Given the description of an element on the screen output the (x, y) to click on. 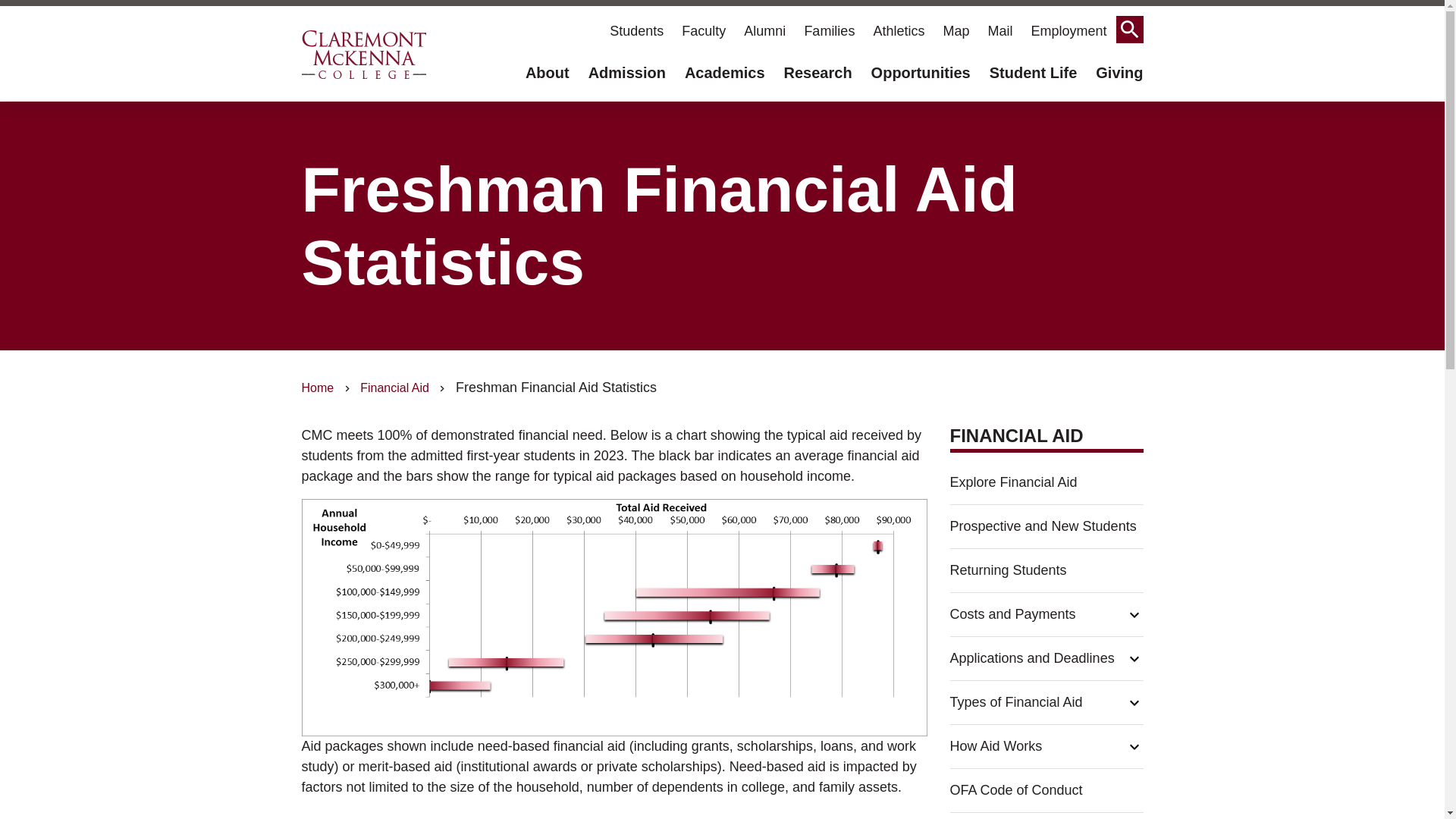
Mail (1000, 30)
Employment (1068, 30)
Search (1129, 29)
Faculty (703, 30)
Alumni (764, 30)
About (547, 72)
Map (955, 30)
Families (828, 30)
Students (635, 30)
Admission (617, 72)
Athletics (898, 30)
